Given the description of an element on the screen output the (x, y) to click on. 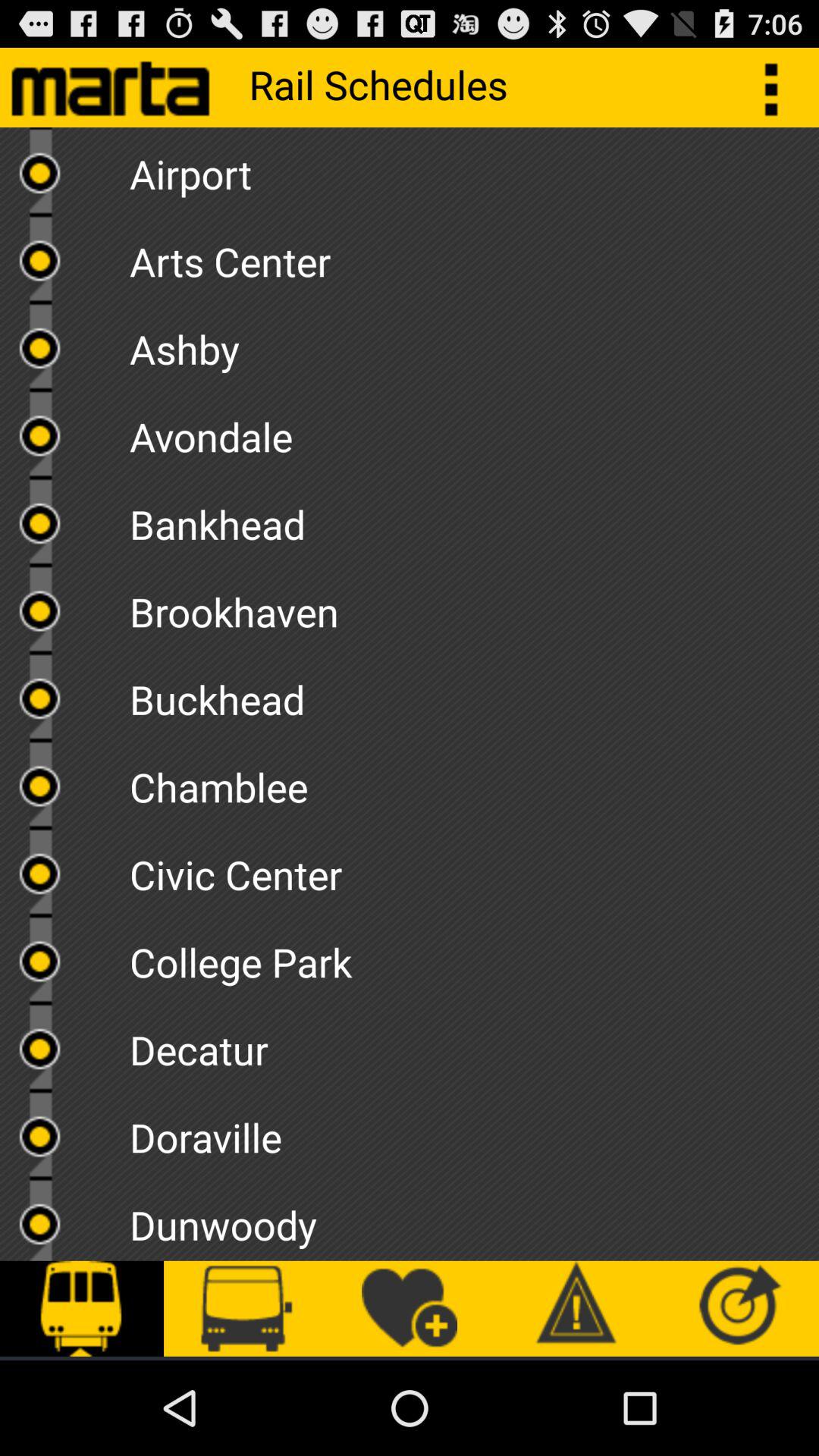
flip to college park item (474, 956)
